Given the description of an element on the screen output the (x, y) to click on. 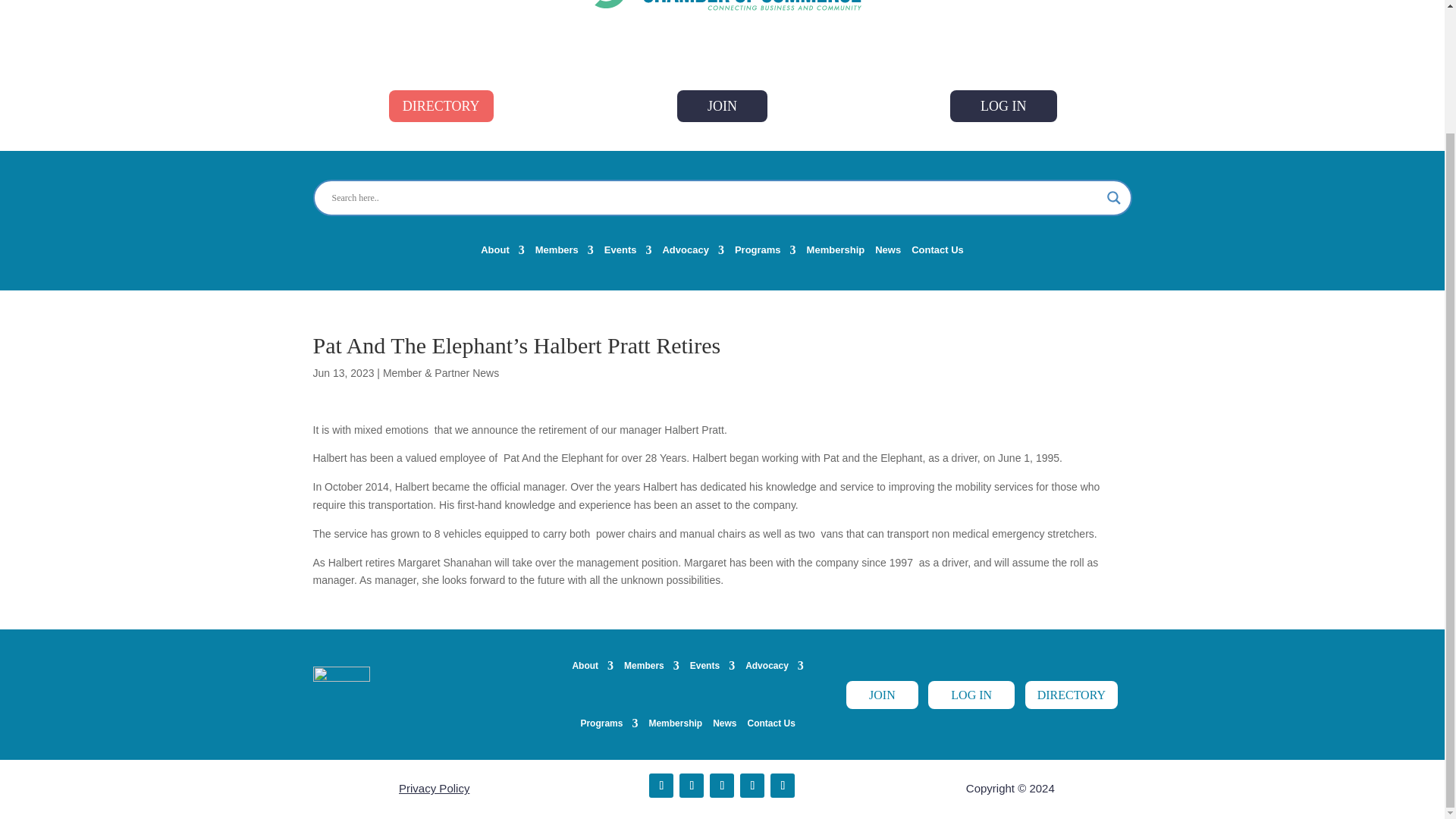
chamber-logo-1 (722, 5)
Follow on LinkedIn (721, 785)
Follow on X (691, 785)
News (888, 252)
LOG IN (1003, 105)
JOIN (722, 105)
Membership (835, 252)
Contact Us (937, 252)
Programs (765, 252)
Follow on Instagram (782, 785)
Advocacy (692, 252)
Follow on Facebook (660, 785)
Events (628, 252)
Follow on Youtube (751, 785)
DIRECTORY (440, 105)
